Given the description of an element on the screen output the (x, y) to click on. 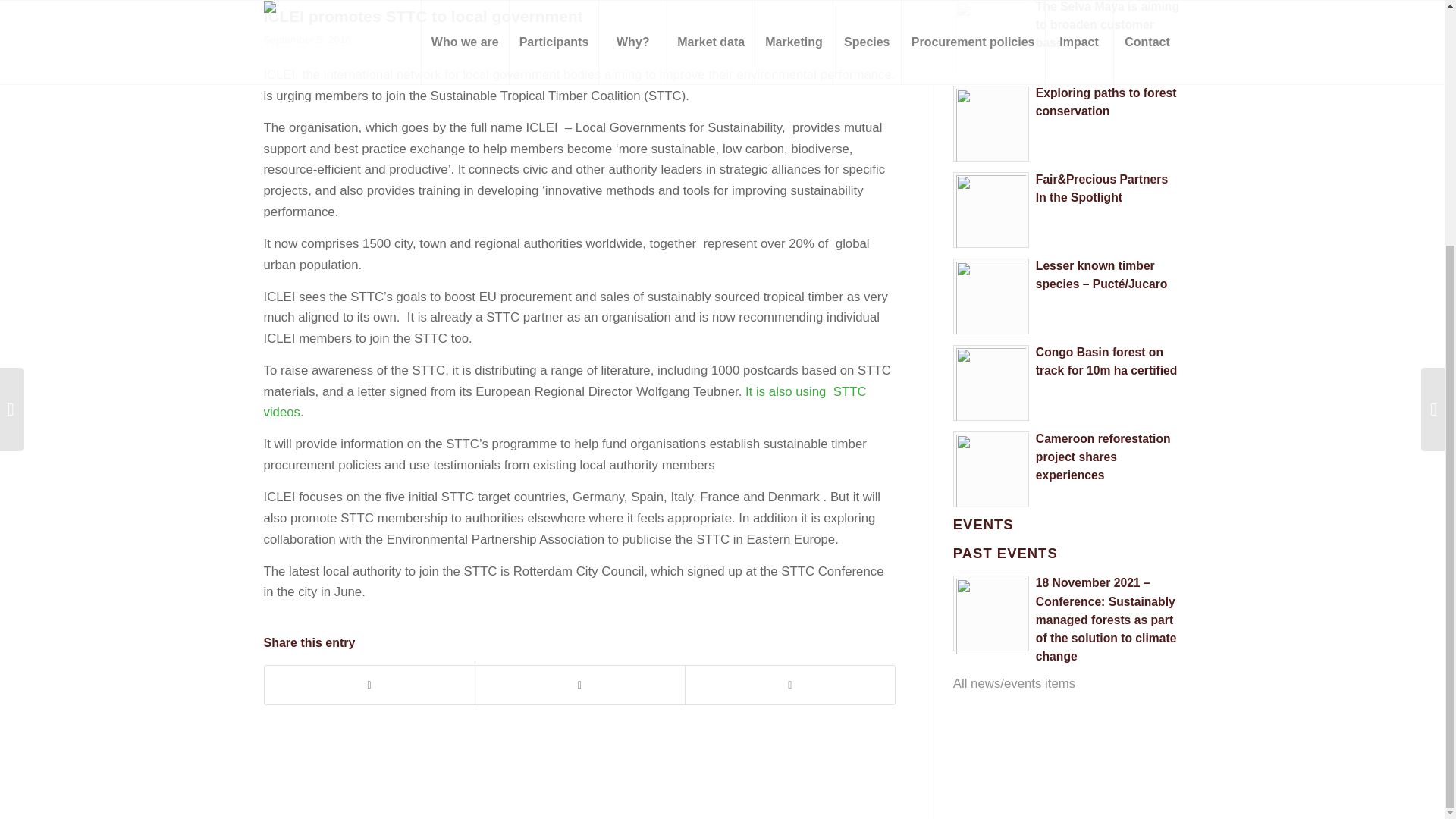
It is also using  STTC videos (564, 402)
Congo Basin forest on track for 10m ha certified (1106, 360)
Read: Exploring paths to forest conservation (1105, 101)
Read: Exploring paths to forest conservation (991, 123)
Exploring paths to forest conservation (1105, 101)
Read: The Selva Maya is aiming to broaden customer base (1107, 24)
The Selva Maya is aiming to broaden customer base (1107, 24)
Read: The Selva Maya is aiming to broaden customer base (991, 37)
Cameroon reforestation project shares experiences (1102, 457)
